Given the description of an element on the screen output the (x, y) to click on. 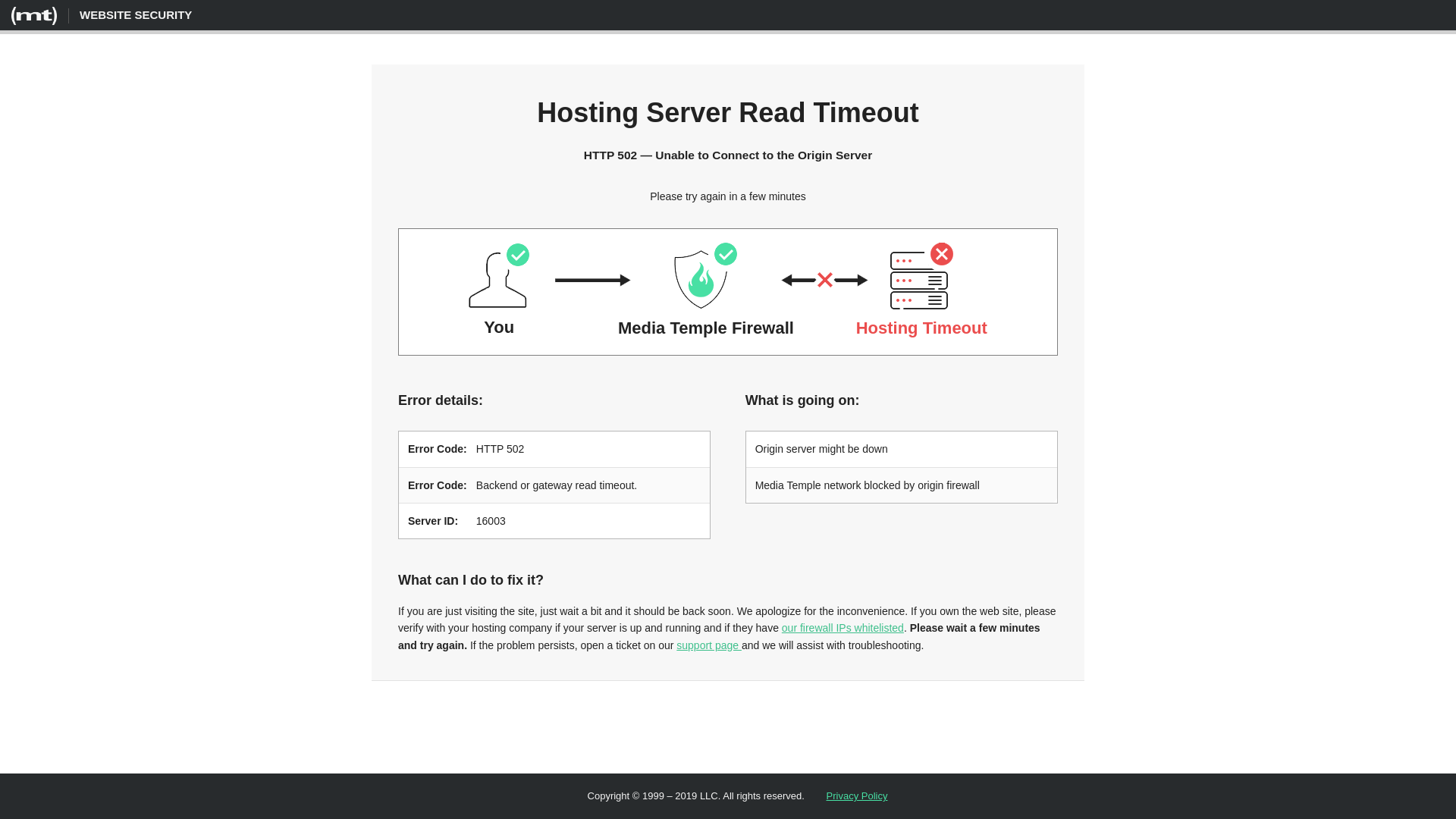
Privacy Policy Element type: text (857, 795)
support page Element type: text (708, 645)
our firewall IPs whitelisted Element type: text (842, 627)
